Given the description of an element on the screen output the (x, y) to click on. 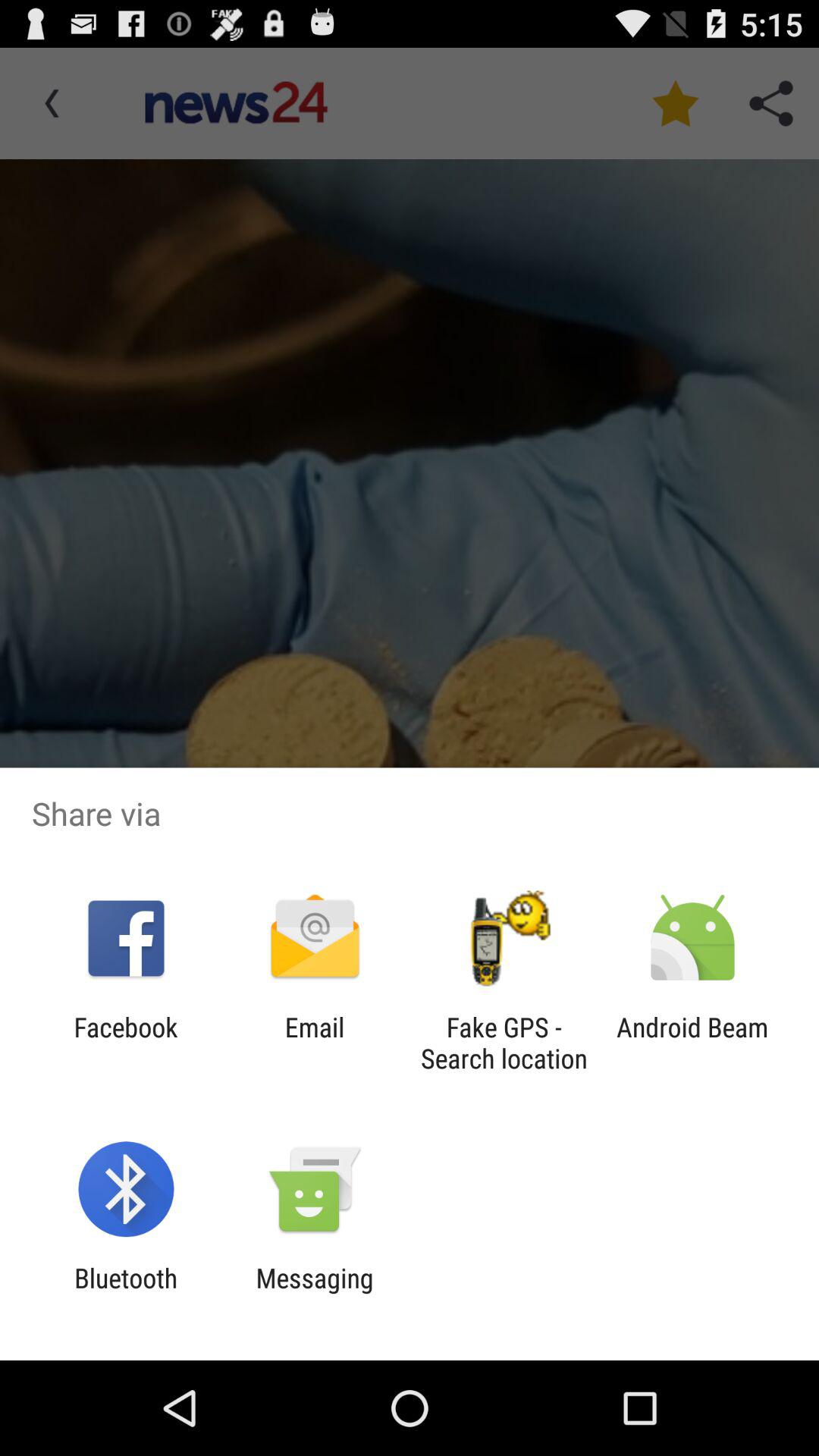
open the fake gps search app (503, 1042)
